Given the description of an element on the screen output the (x, y) to click on. 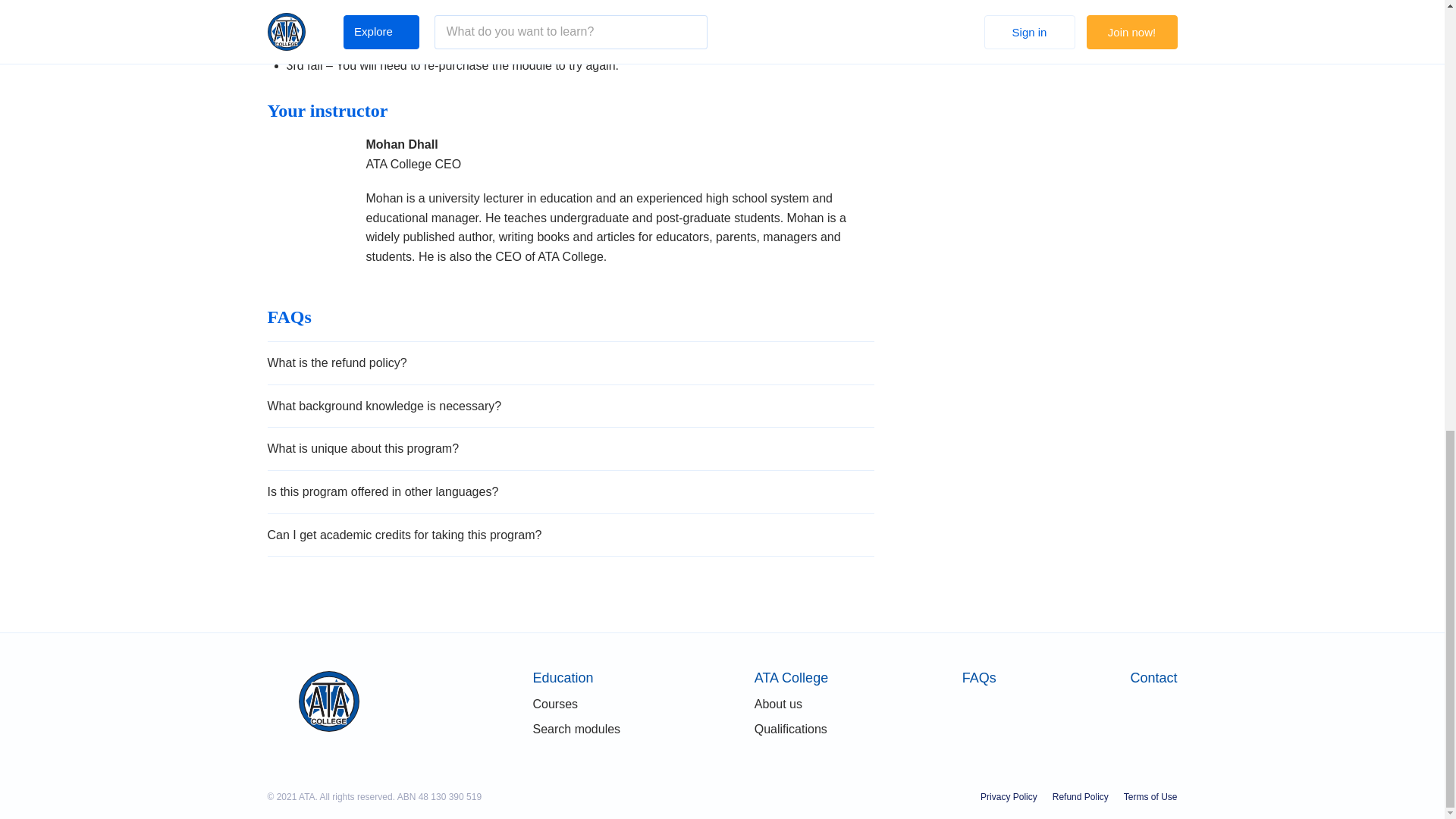
Education (576, 677)
